Given the description of an element on the screen output the (x, y) to click on. 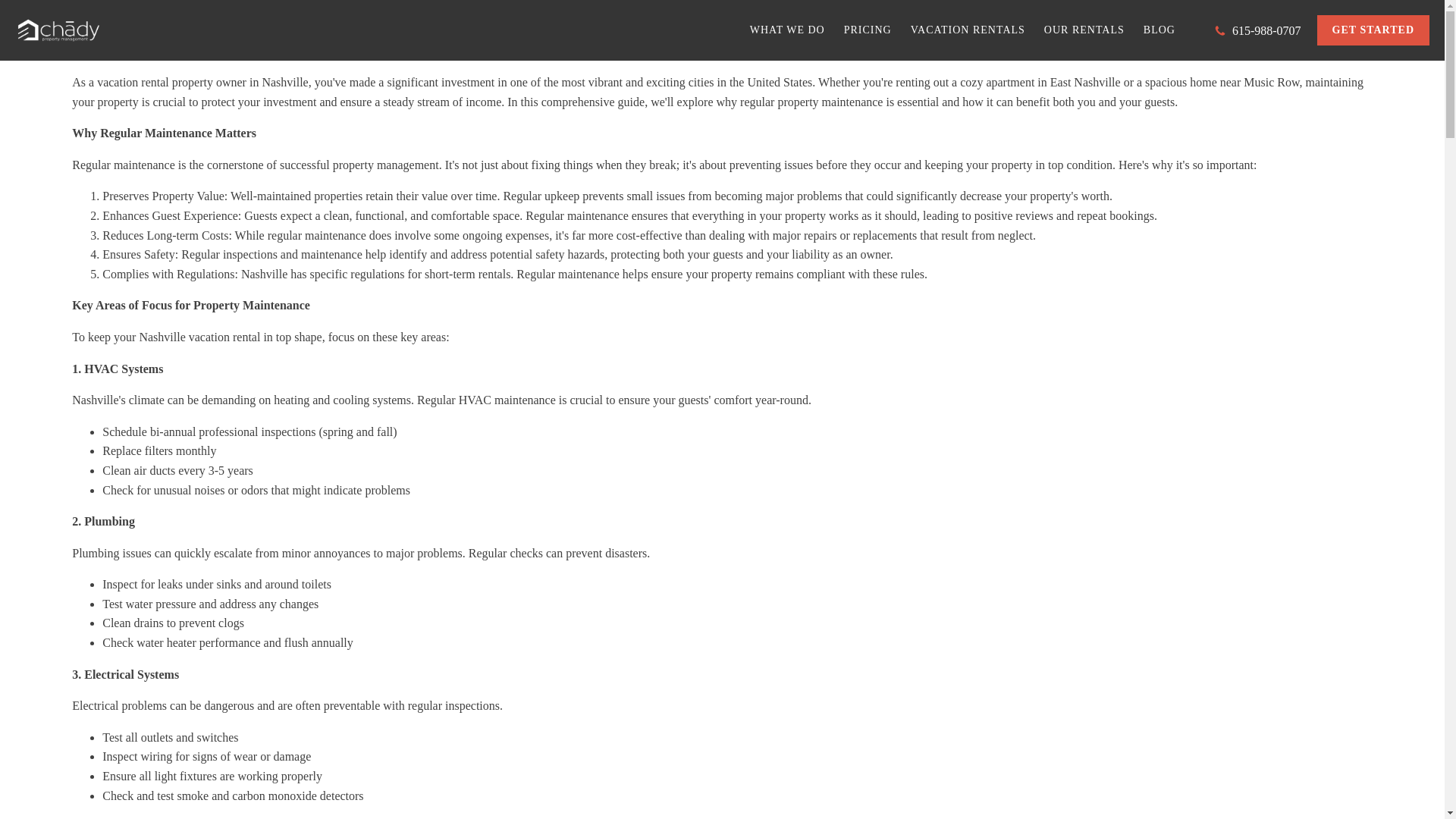
WHAT WE DO (787, 30)
PRICING (867, 30)
VACATION RENTALS (968, 30)
615-988-0707 (1256, 30)
BLOG (1158, 30)
OUR RENTALS (1083, 30)
GET STARTED (1373, 30)
